Given the description of an element on the screen output the (x, y) to click on. 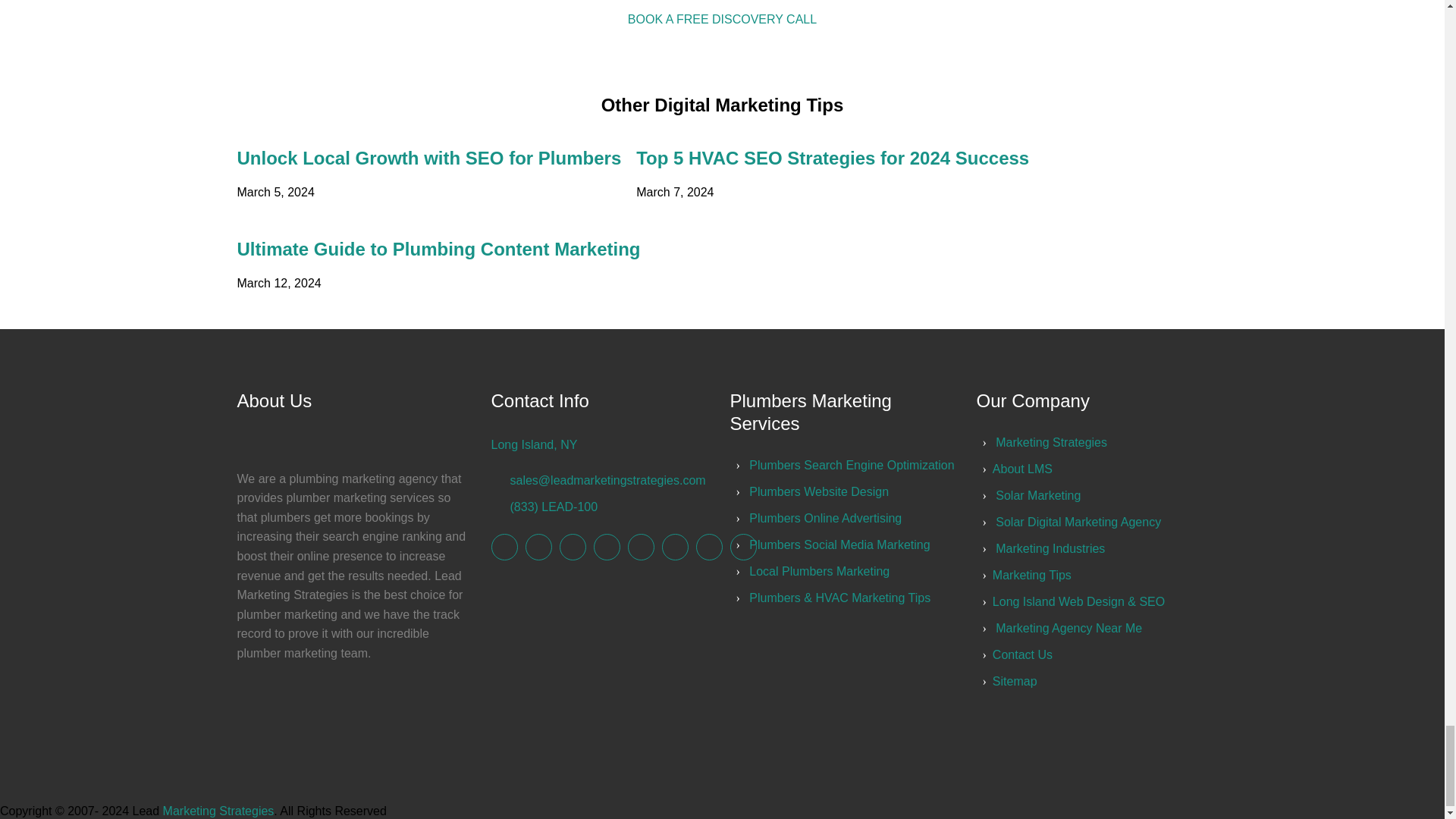
Lead Marketing Strategies (742, 546)
SEO Copywriting (839, 544)
Lead Marketing Strategies (505, 546)
Search Engine Optimization (851, 464)
Lead Marketing Strategies (708, 546)
Plumbers Marketing Tips (839, 597)
Local Plumbers Marketing (819, 571)
Lead Marketing Strategies (1050, 441)
Lead Marketing Strategies (674, 546)
About LMS (1022, 468)
Lead Marketing Strategies (537, 546)
Lead Marketing Strategies (606, 546)
PPC Advertising (818, 491)
Lead Marketing Strategies (572, 546)
Reputation Management (825, 517)
